Given the description of an element on the screen output the (x, y) to click on. 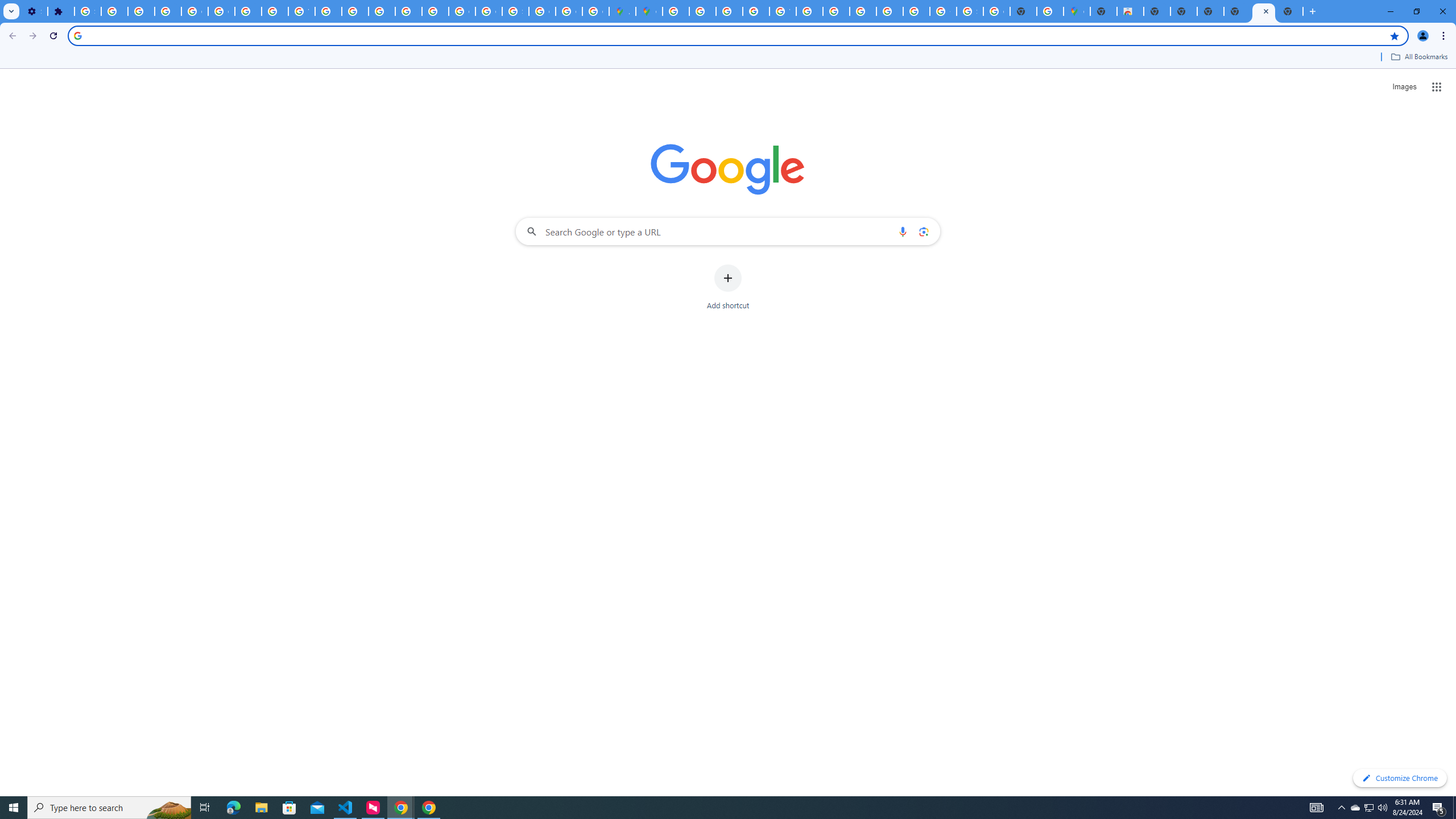
https://scholar.google.com/ (328, 11)
New Tab (1289, 11)
Search by image (922, 230)
YouTube (782, 11)
Privacy Help Center - Policies Help (729, 11)
Sign in - Google Accounts (515, 11)
Google Account Help (194, 11)
Customize Chrome (1399, 778)
